Given the description of an element on the screen output the (x, y) to click on. 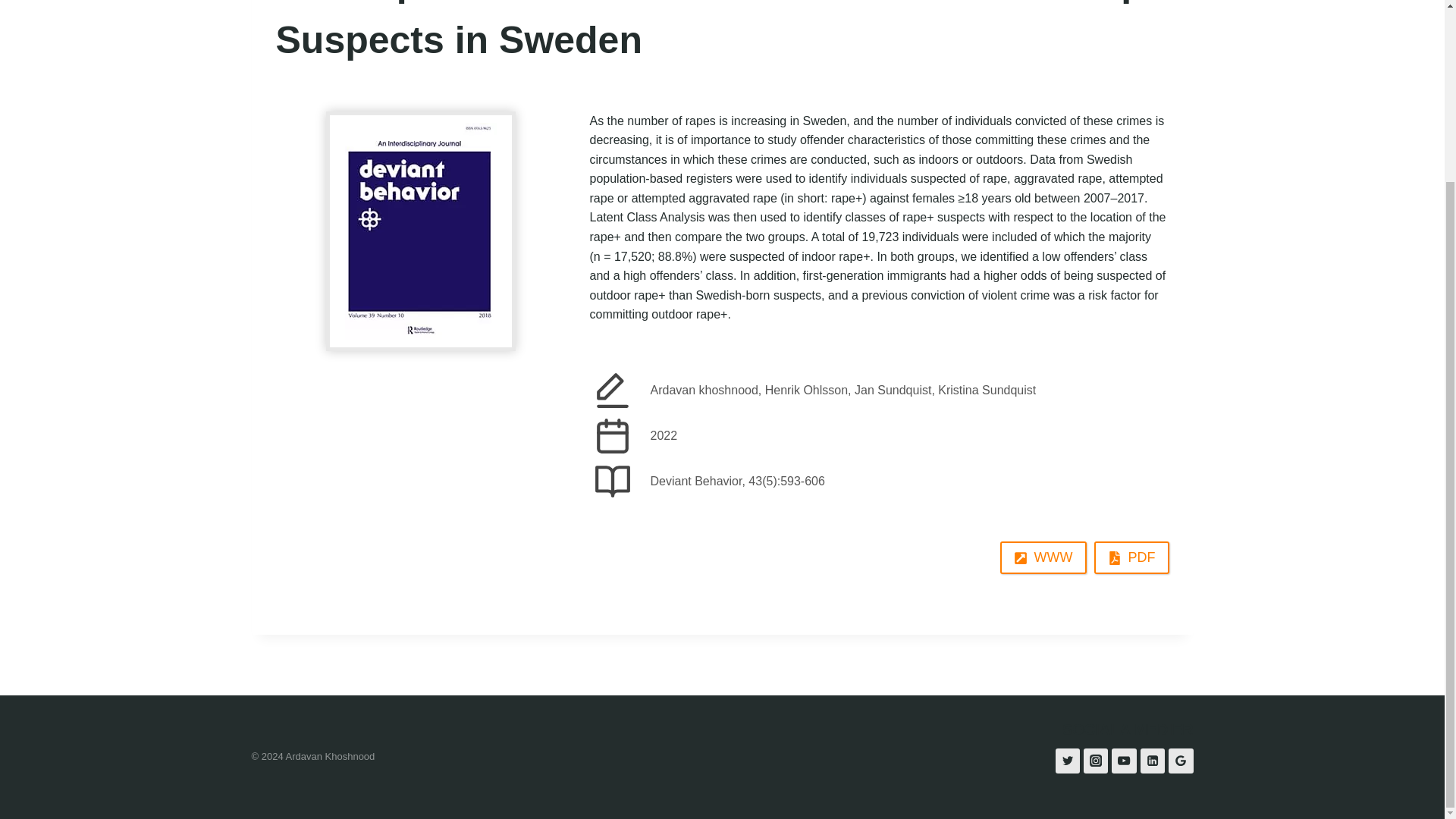
WWW (1043, 557)
PDF (1131, 557)
